Given the description of an element on the screen output the (x, y) to click on. 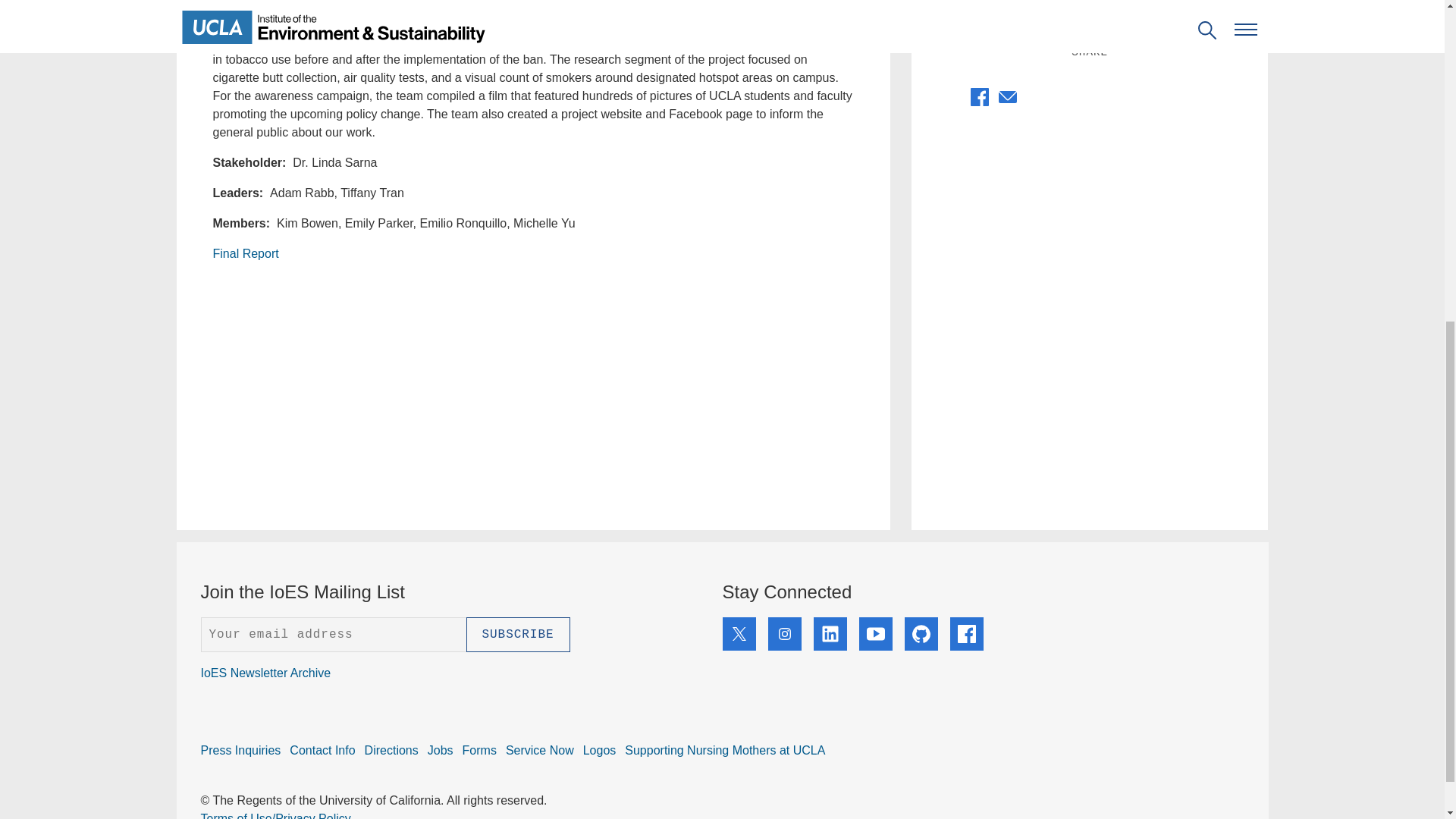
Subscribe (517, 634)
Share on Facebook (979, 101)
Final Report (245, 253)
Email this article (1007, 101)
UCLA Tobacco-Free Campus (401, 381)
Facebook (954, 104)
X formally Twitter (979, 96)
Facebook (954, 96)
Tweet this article (965, 633)
